Given the description of an element on the screen output the (x, y) to click on. 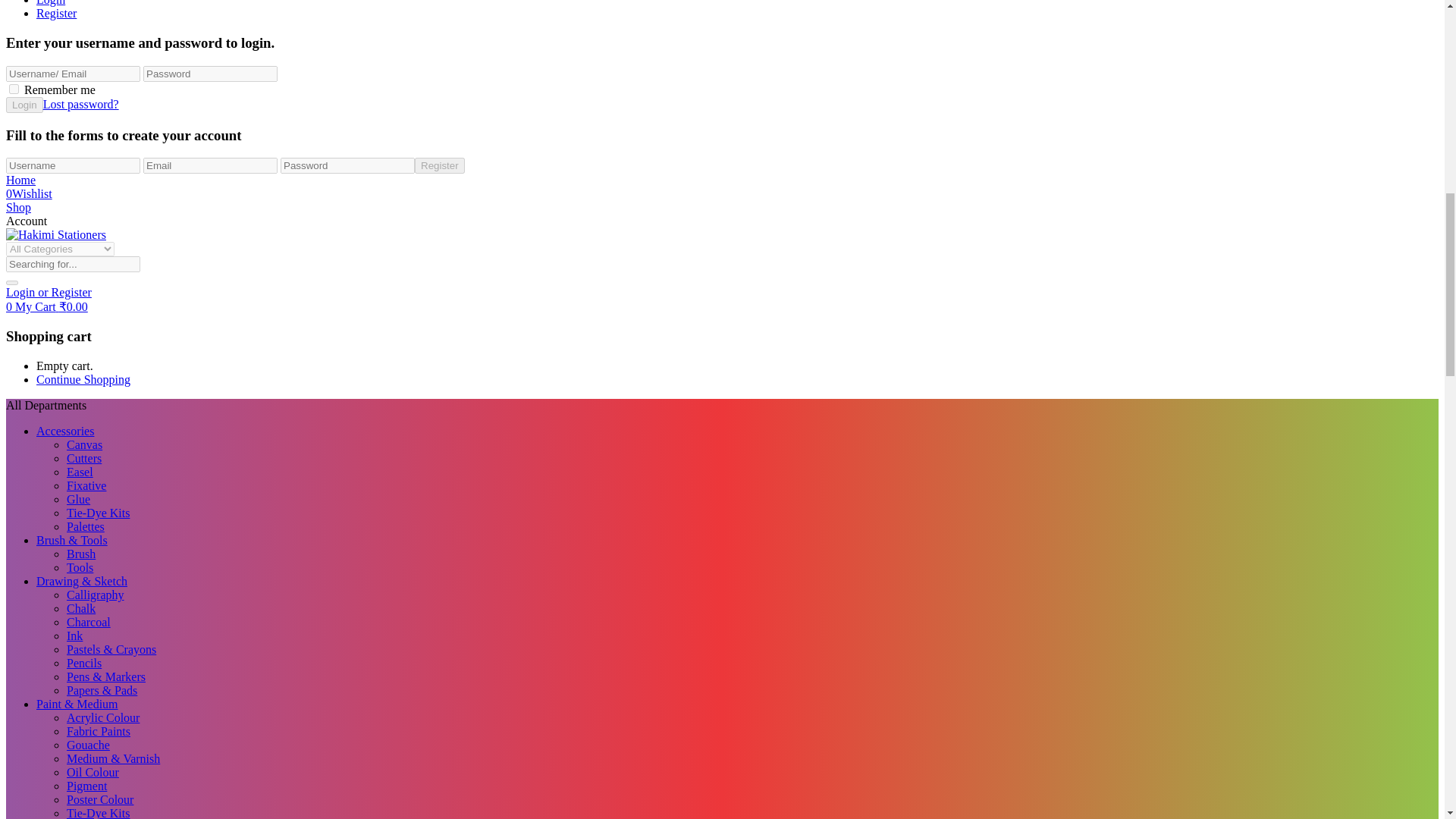
Login (25, 220)
Login or Register (48, 291)
View your shopping cart (46, 306)
forever (13, 89)
